Given the description of an element on the screen output the (x, y) to click on. 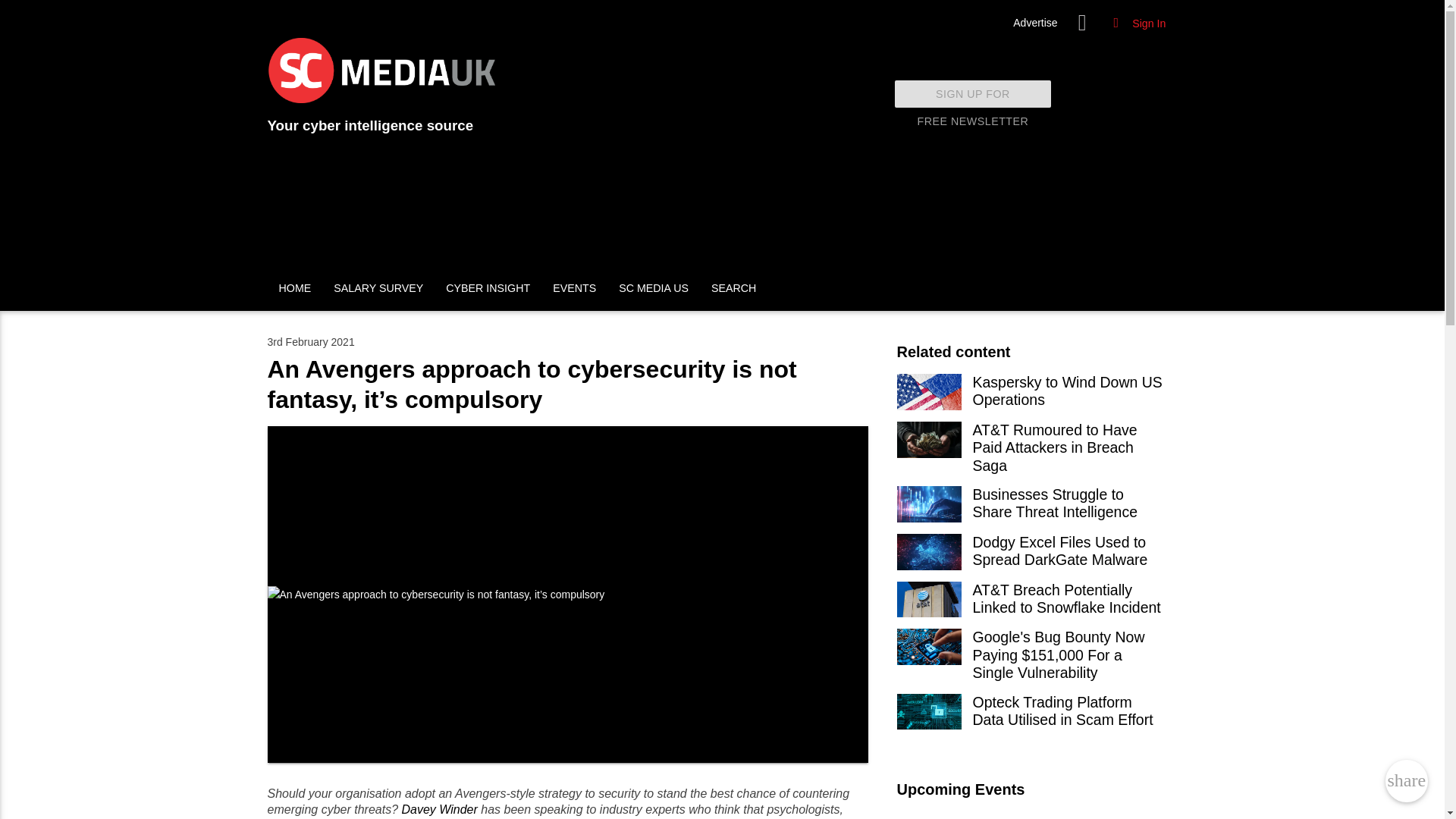
Businesses Struggle to Share Threat Intelligence (1031, 509)
CYBER INSIGHT (487, 288)
SALARY SURVEY (377, 288)
Opteck Trading Platform Data Utilised in Scam Effort (973, 93)
Videos (1031, 717)
Events (1031, 509)
Dodgy Excel Files Used to Spread DarkGate Malware (1035, 22)
